Given the description of an element on the screen output the (x, y) to click on. 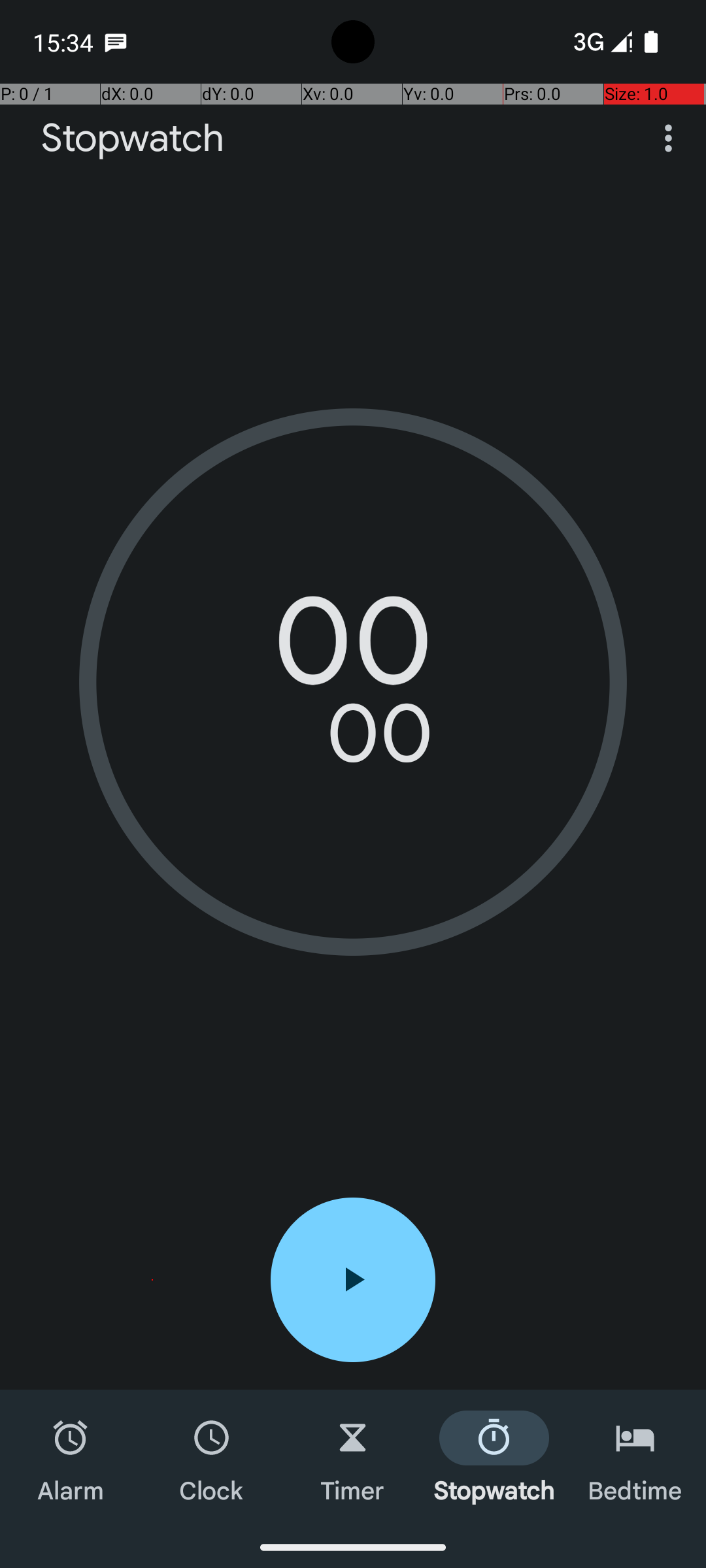
Start Element type: android.widget.Button (352, 1279)
00 Element type: android.widget.TextView (352, 650)
